Given the description of an element on the screen output the (x, y) to click on. 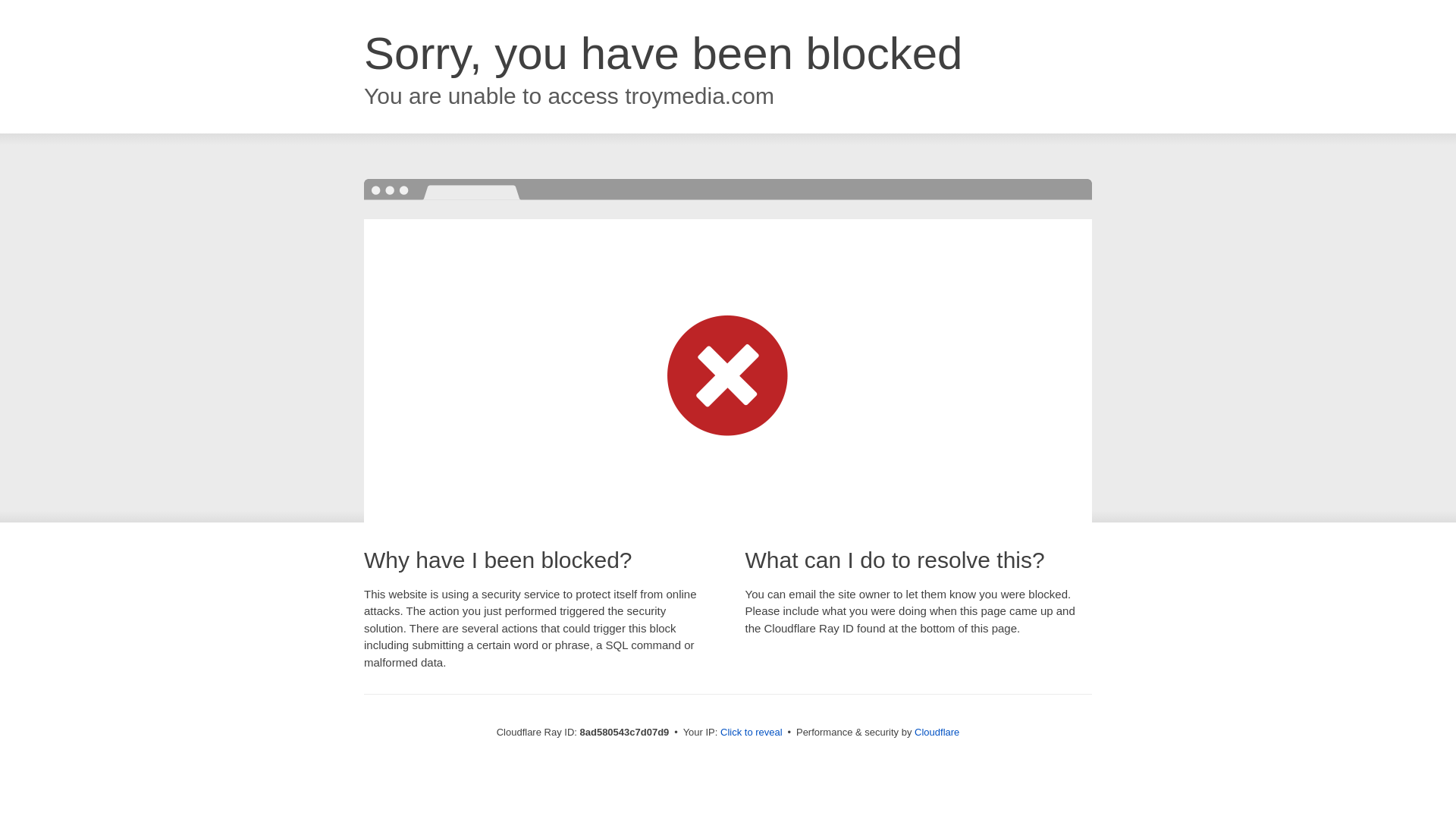
Cloudflare (936, 731)
Click to reveal (751, 732)
